Given the description of an element on the screen output the (x, y) to click on. 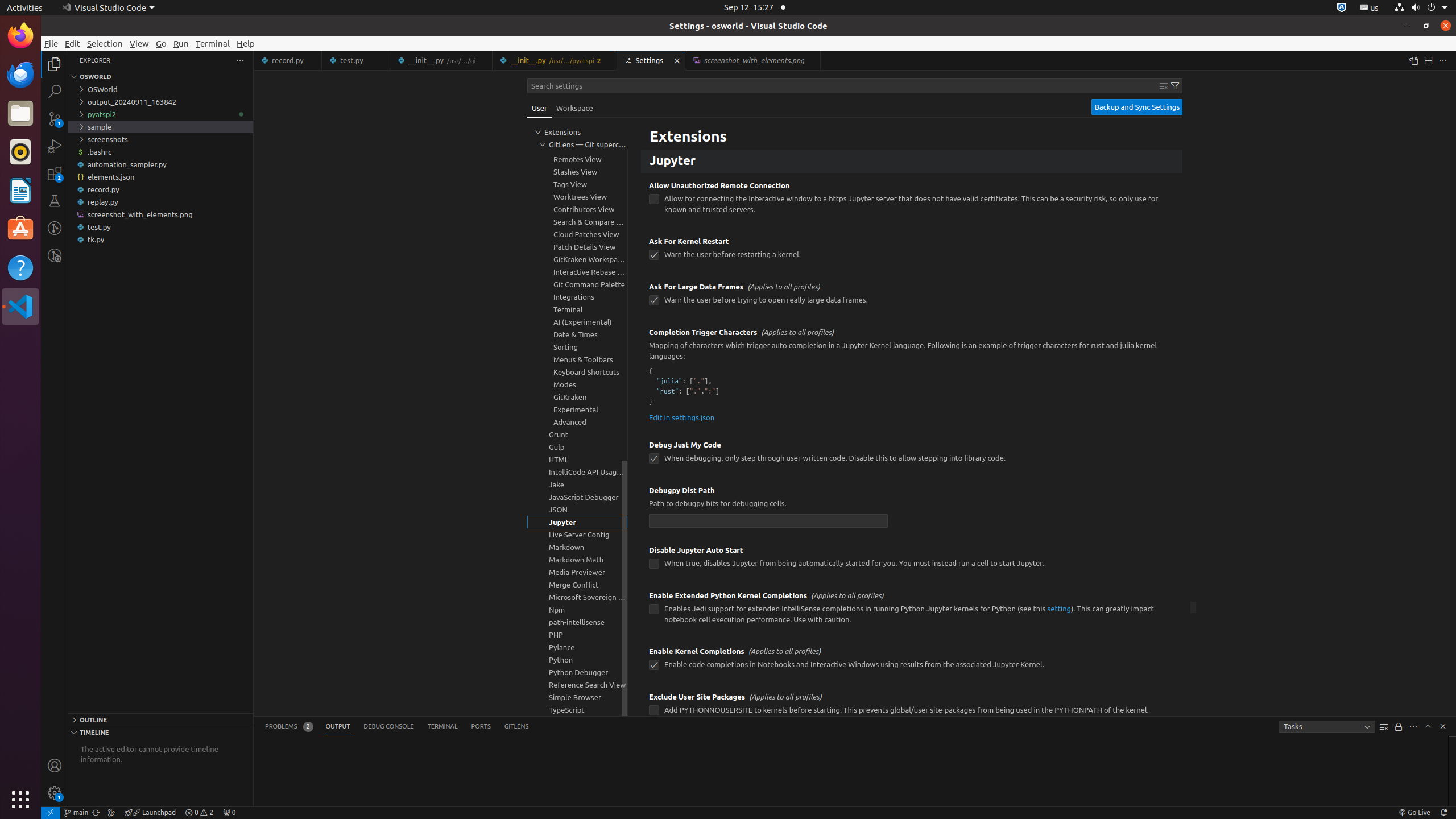
Keyboard Shortcuts, group Element type: tree-item (577, 371)
JavaScript Debugger, group Element type: tree-item (577, 496)
JSON › Validate Enable. Enable/disable JSON validation.  Element type: tree-item (911, 126)
 Completion Trigger Characters. Setting value retained when switching profiles. Mapping of characters which trigger auto completion in a Jupyter Kernel language. Following is an example of trigger characters for rust and julia kernel languages: { "julia": ["."], "rust": [".",":"] } Element type: tree-item (911, 376)
Notifications Element type: push-button (1443, 812)
